Given the description of an element on the screen output the (x, y) to click on. 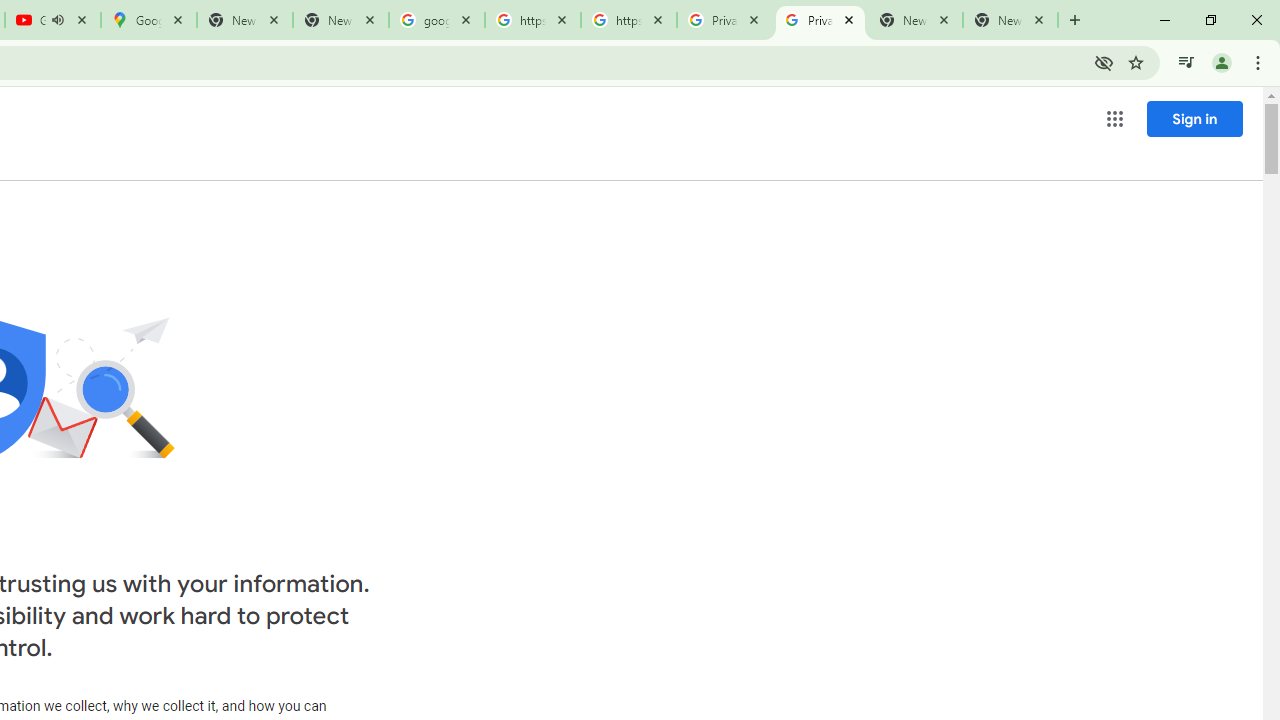
New Tab (1010, 20)
https://scholar.google.com/ (629, 20)
